Given the description of an element on the screen output the (x, y) to click on. 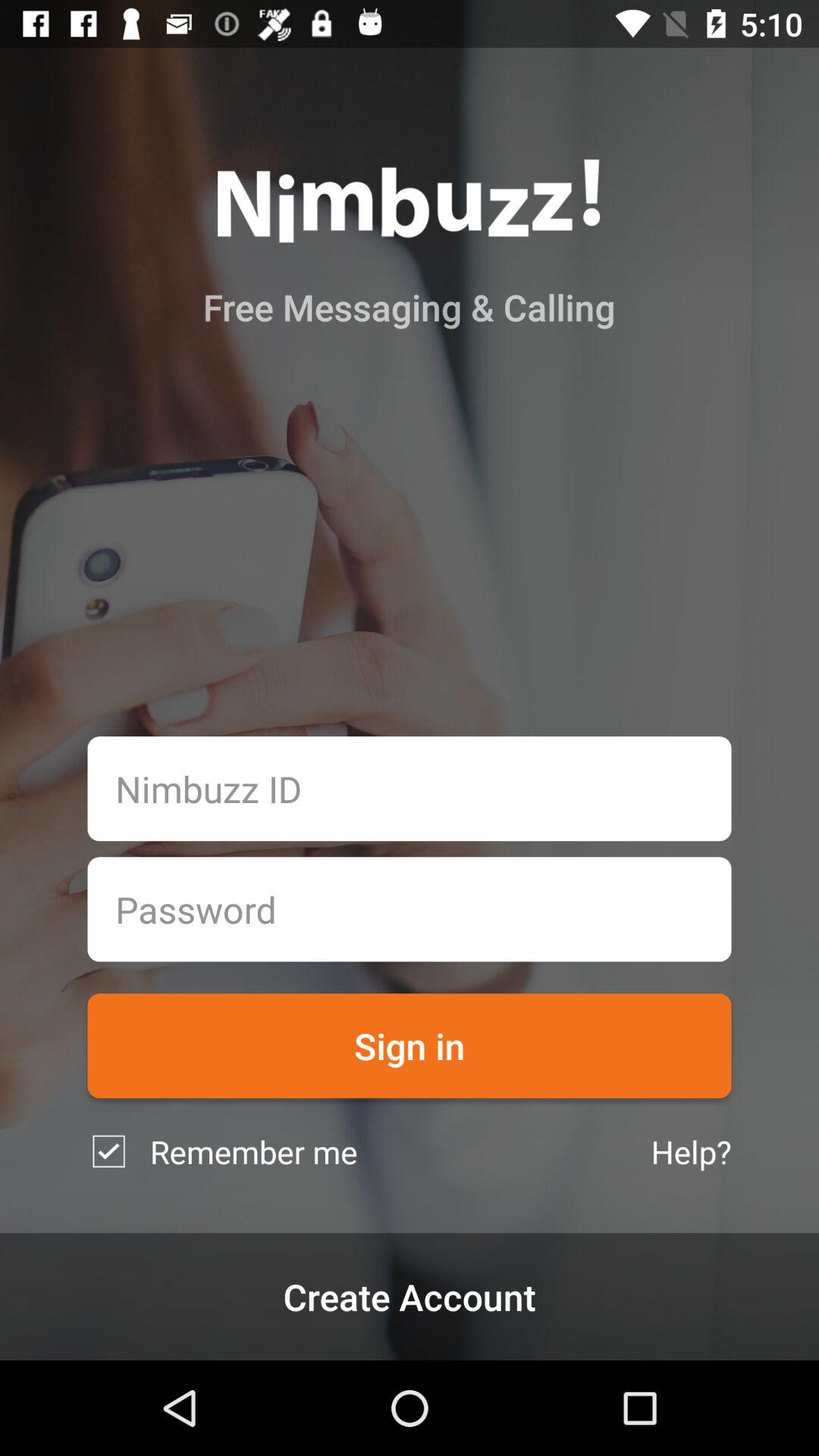
enter your password (409, 909)
